Given the description of an element on the screen output the (x, y) to click on. 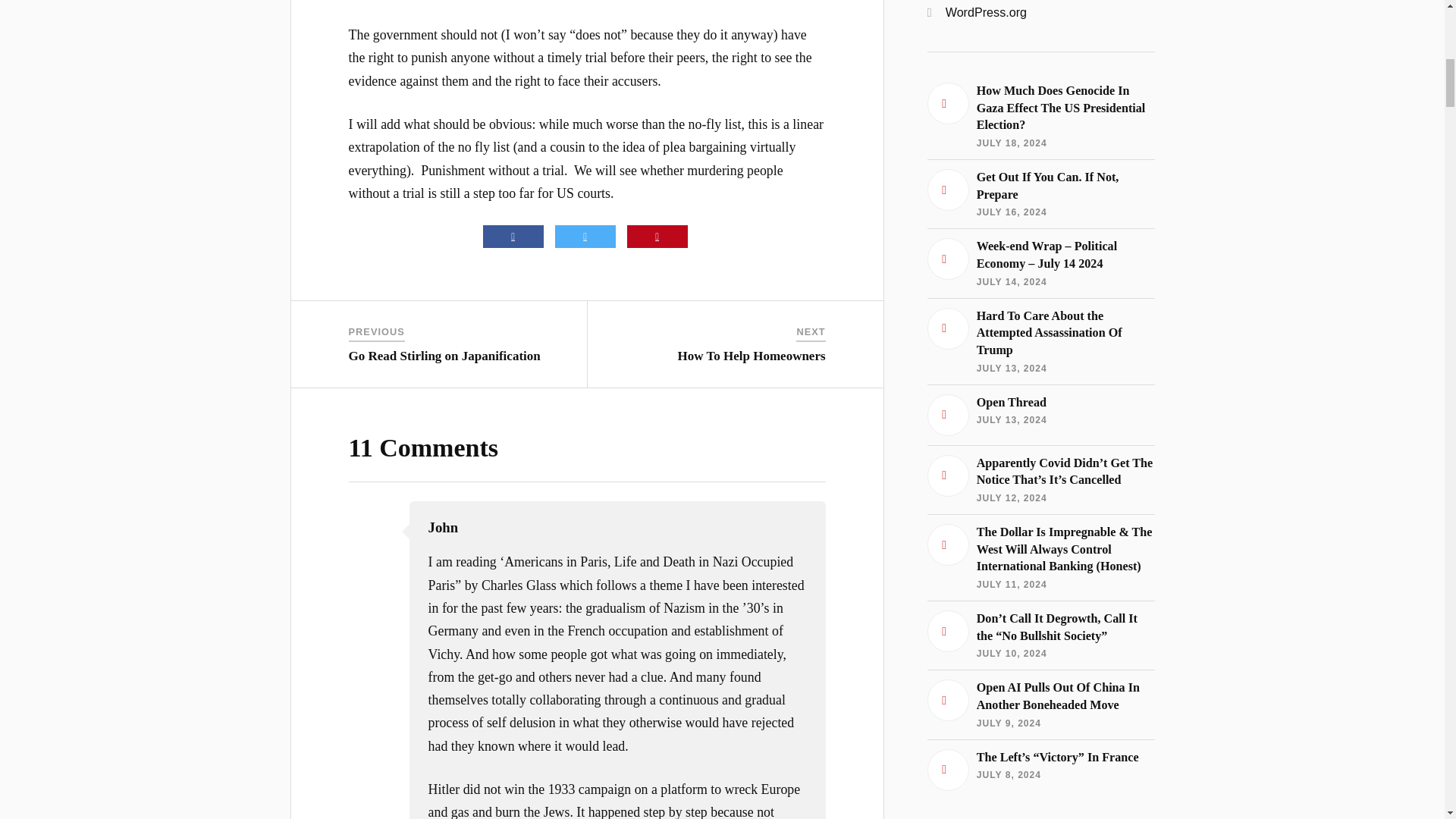
How To Help Homeowners (751, 355)
Go Read Stirling on Japanification (444, 355)
